Given the description of an element on the screen output the (x, y) to click on. 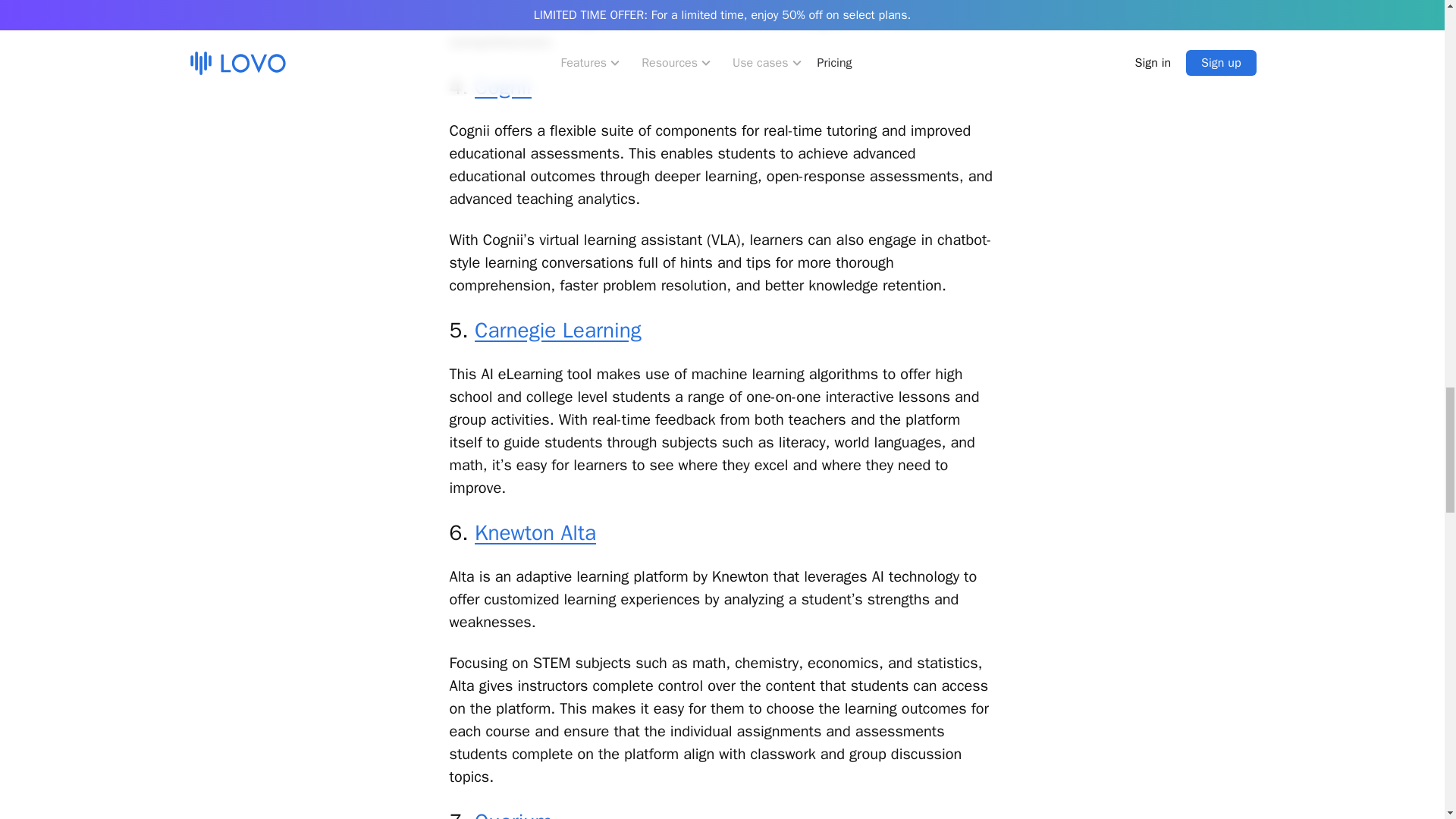
Knewton Alta (534, 532)
Cognii (502, 86)
Carnegie Learning (558, 329)
Querium (512, 813)
